Given the description of an element on the screen output the (x, y) to click on. 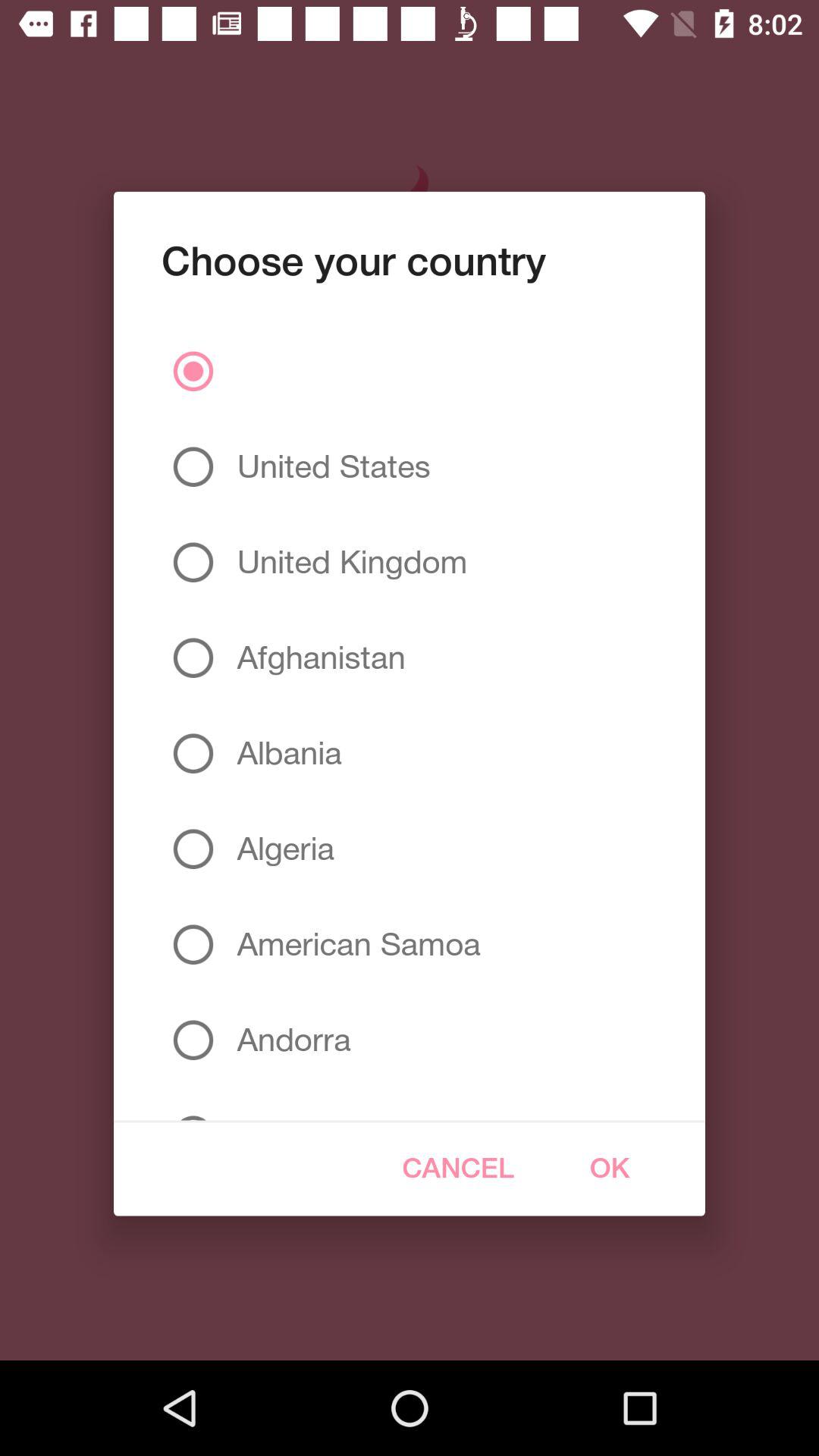
swipe to the andorra item (287, 1040)
